Given the description of an element on the screen output the (x, y) to click on. 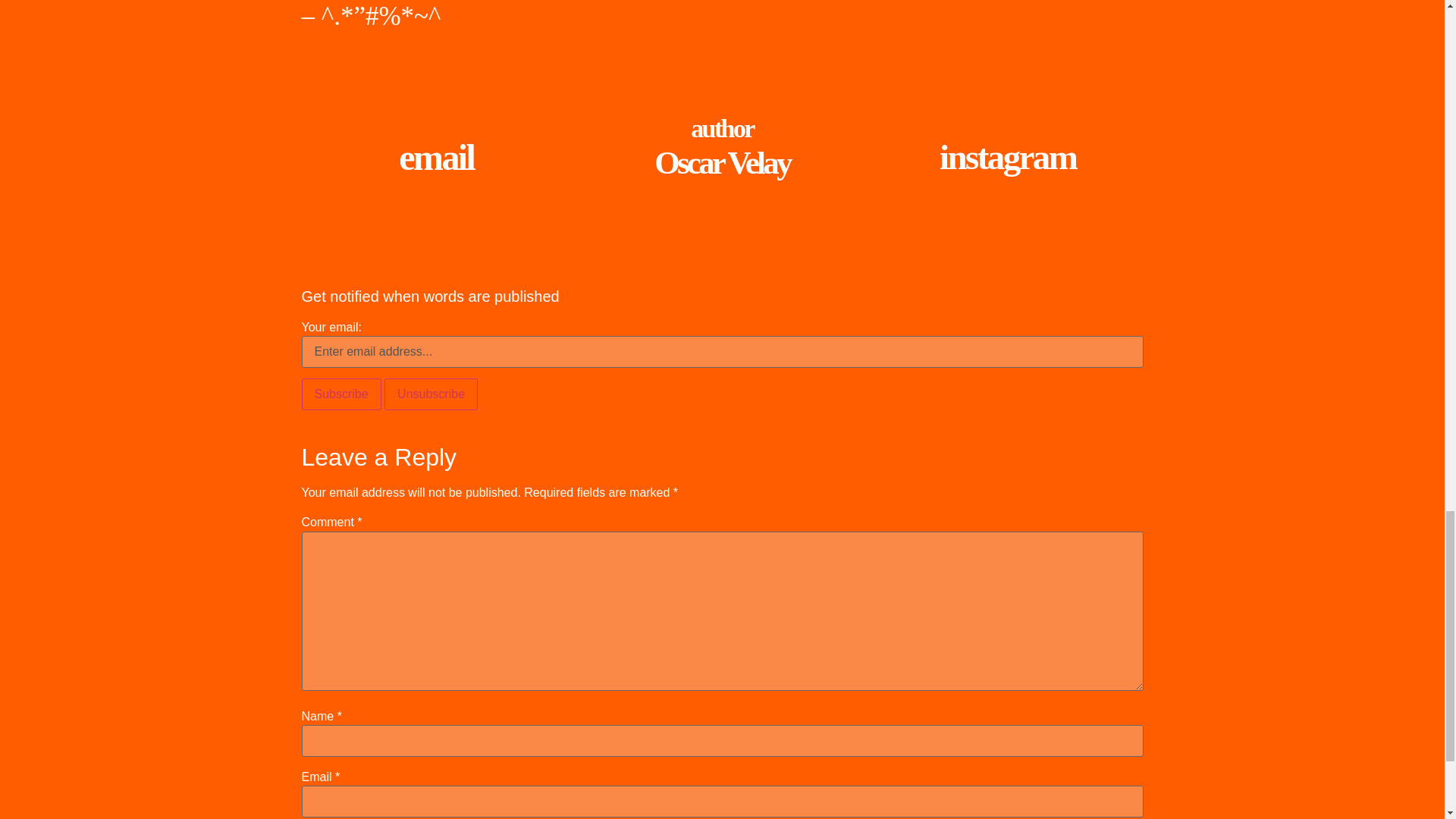
instagram (1007, 156)
author (722, 128)
Enter email address... (721, 351)
email (436, 157)
Unsubscribe (430, 394)
Unsubscribe (430, 394)
Subscribe (341, 394)
Subscribe (341, 394)
